Given the description of an element on the screen output the (x, y) to click on. 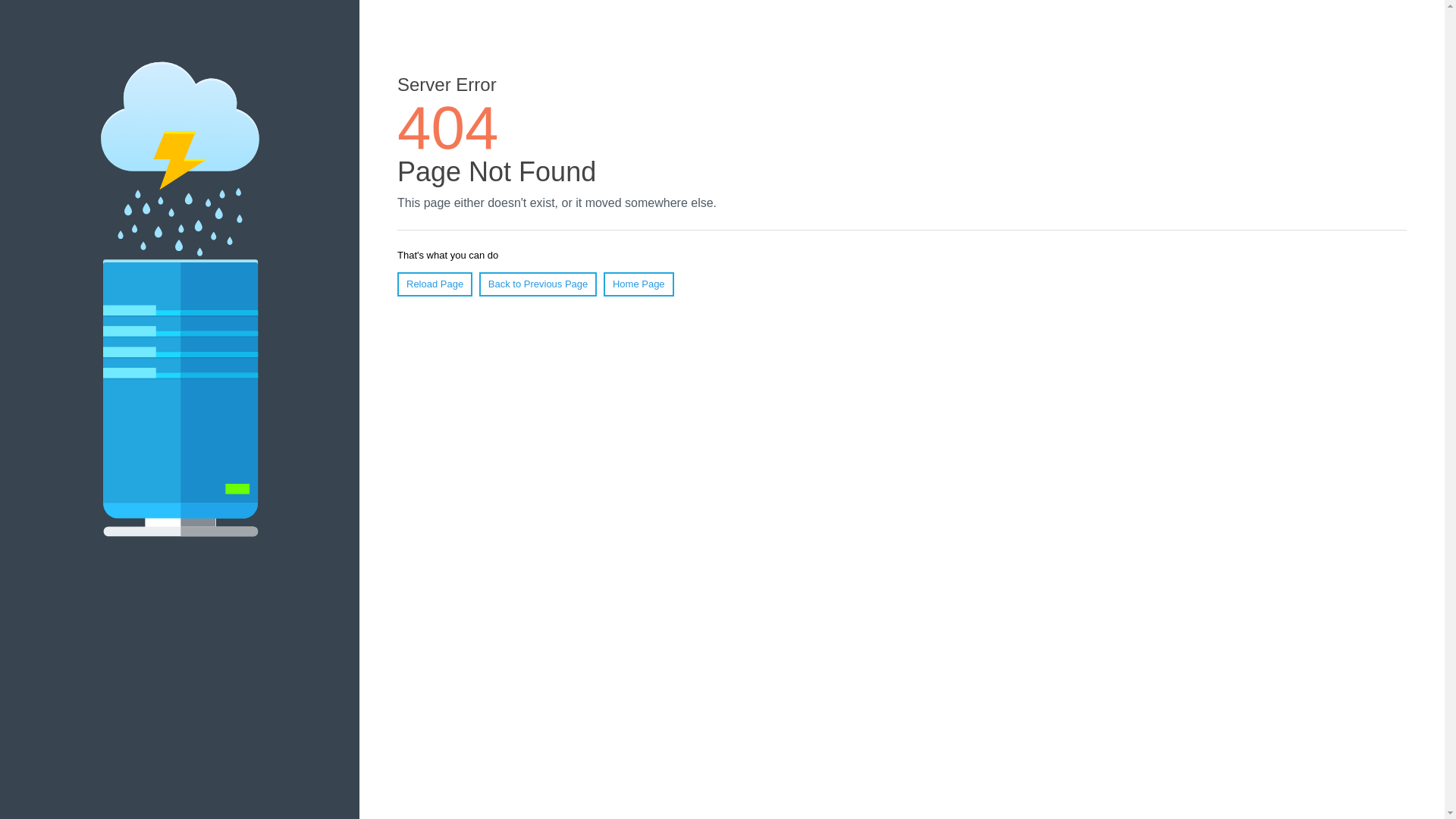
Home Page Element type: text (638, 284)
Reload Page Element type: text (434, 284)
Back to Previous Page Element type: text (538, 284)
